Given the description of an element on the screen output the (x, y) to click on. 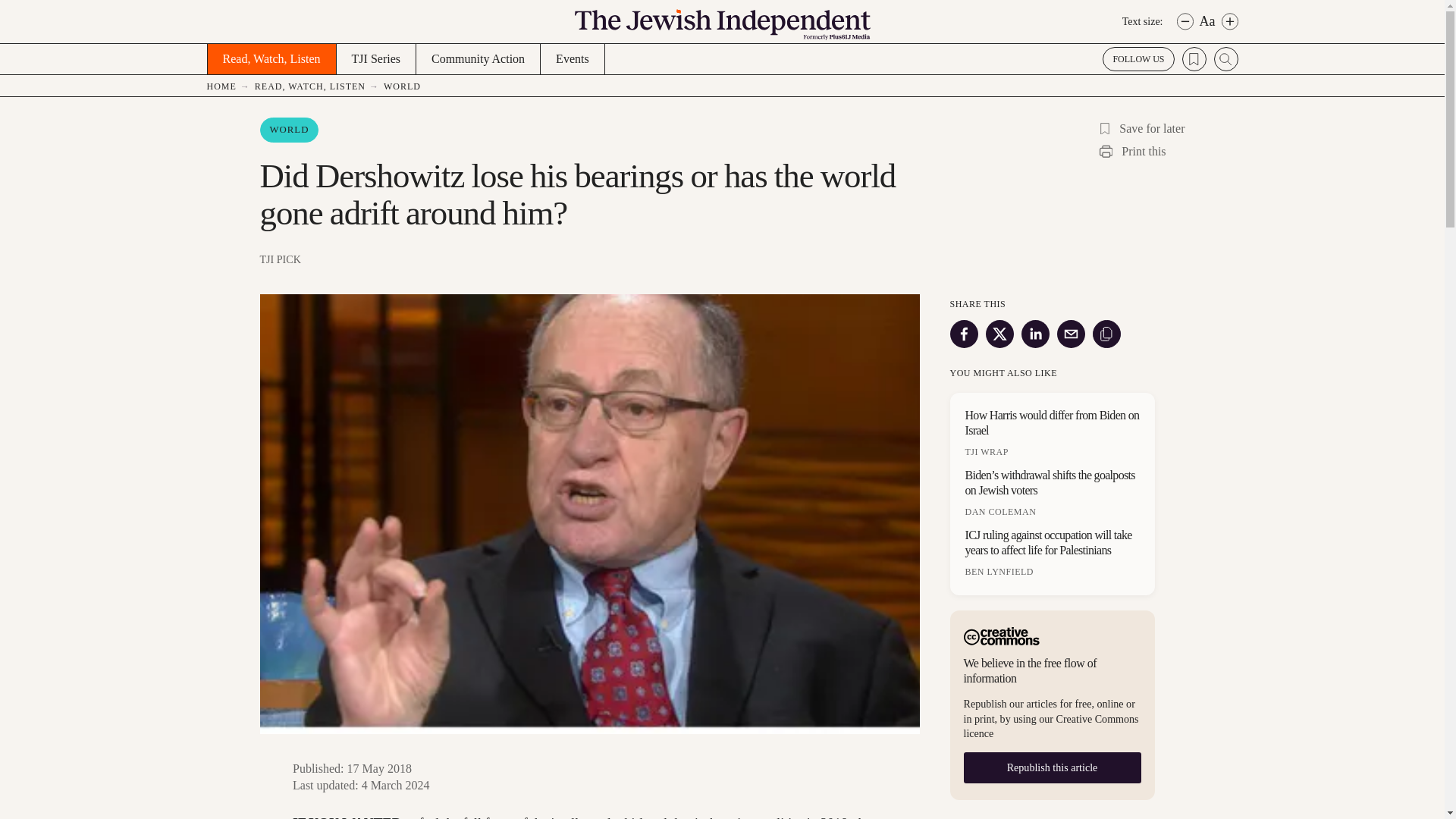
READ, WATCH, LISTEN (319, 85)
Decrease text size (1184, 21)
socials (1137, 58)
WORLD (404, 85)
Save for later (1139, 128)
TJI PICK (588, 259)
HOME (229, 85)
Read, Watch, Listen (270, 59)
TJI Series (375, 59)
WORLD (288, 129)
search (1224, 58)
Events (572, 59)
Increase text size (1229, 21)
Community Action (477, 59)
Add to your saved articles (1104, 128)
